Given the description of an element on the screen output the (x, y) to click on. 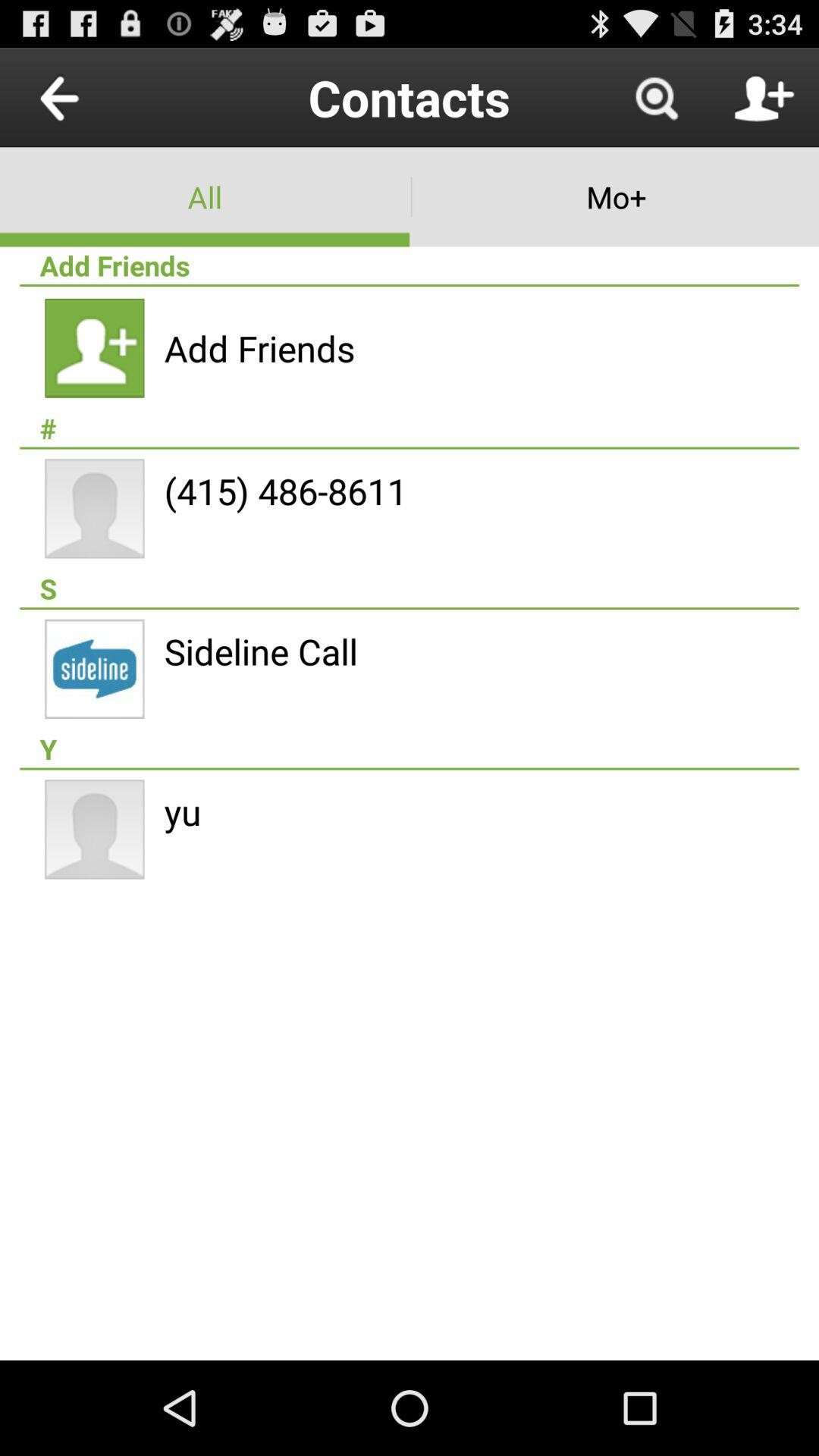
jump until yu app (182, 811)
